Given the description of an element on the screen output the (x, y) to click on. 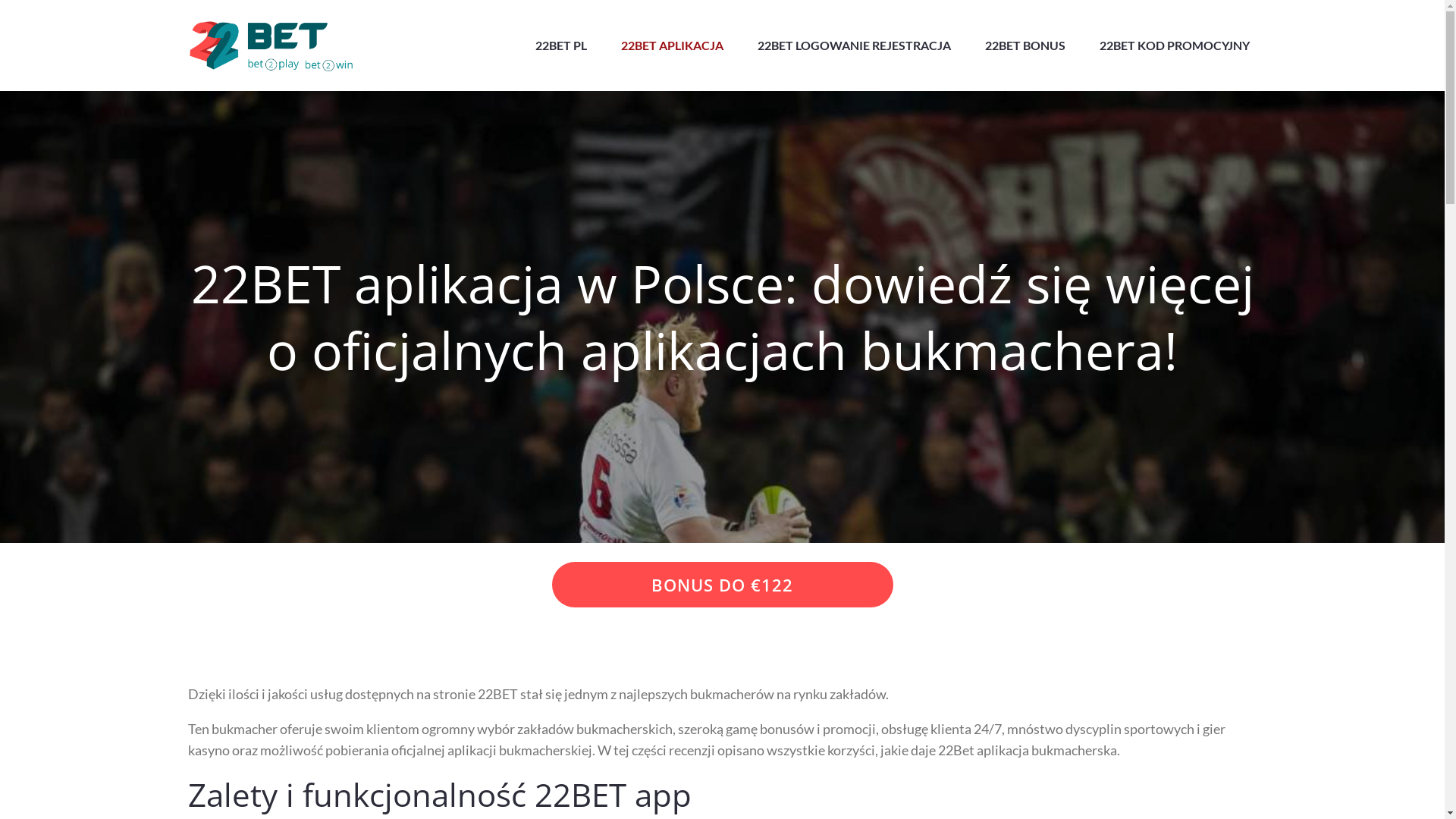
22bet-polska.com Element type: text (476, 60)
Skip to content Element type: text (0, 0)
22BET APLIKACJA Element type: text (671, 45)
22BET LOGOWANIE REJESTRACJA Element type: text (853, 45)
22BET BONUS Element type: text (1024, 45)
22BET PL Element type: text (560, 45)
22BET KOD PROMOCYJNY Element type: text (1174, 45)
